Given the description of an element on the screen output the (x, y) to click on. 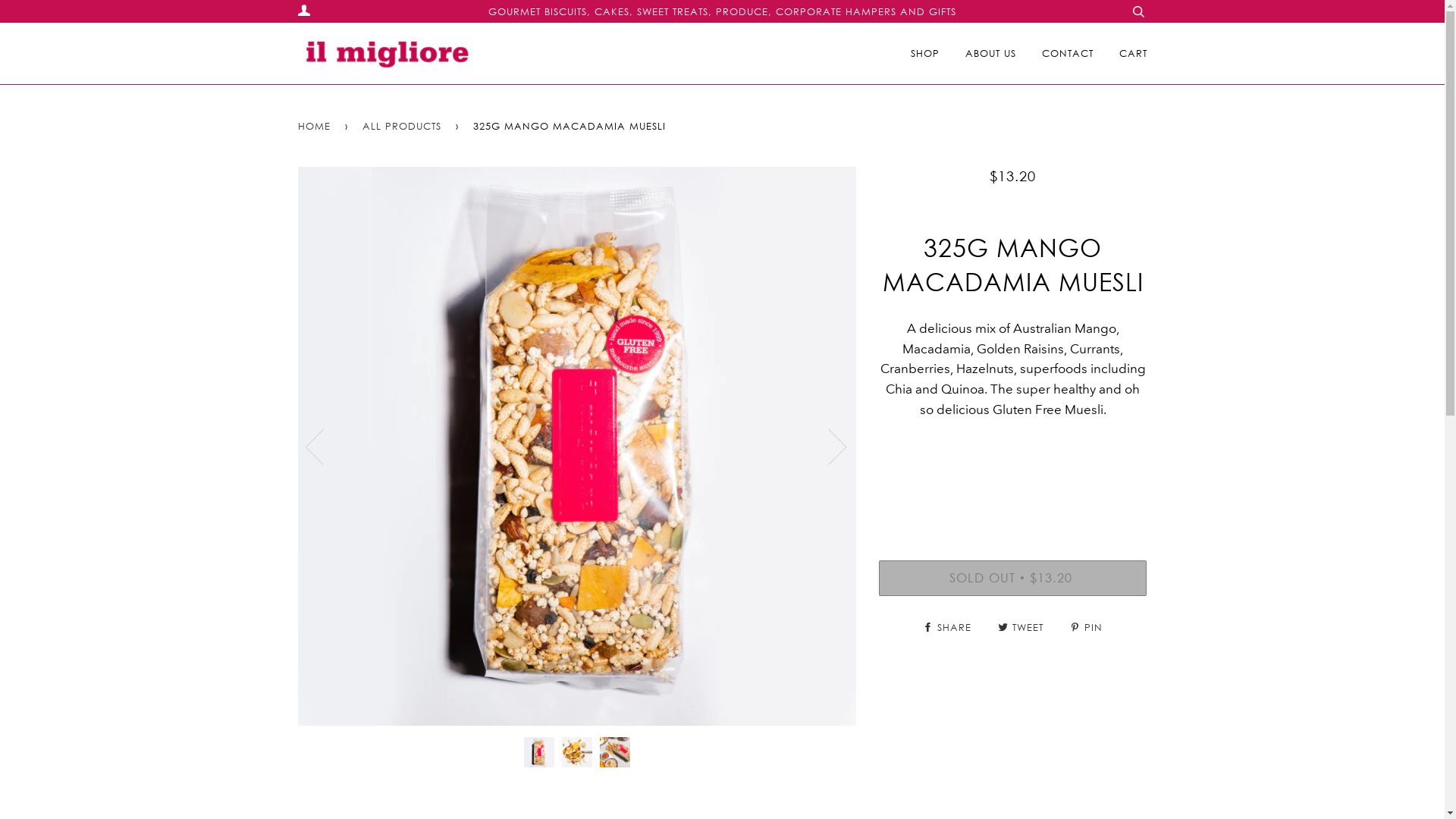
ABOUT US Element type: text (989, 53)
CONTACT Element type: text (1067, 53)
SHOP Element type: text (924, 53)
SHARE Element type: text (948, 627)
CART Element type: text (1133, 53)
Previous Element type: text (322, 445)
ALL PRODUCTS Element type: text (404, 125)
HOME Element type: text (316, 125)
PIN Element type: text (1086, 627)
Next Element type: text (828, 445)
TWEET Element type: text (1022, 627)
